Given the description of an element on the screen output the (x, y) to click on. 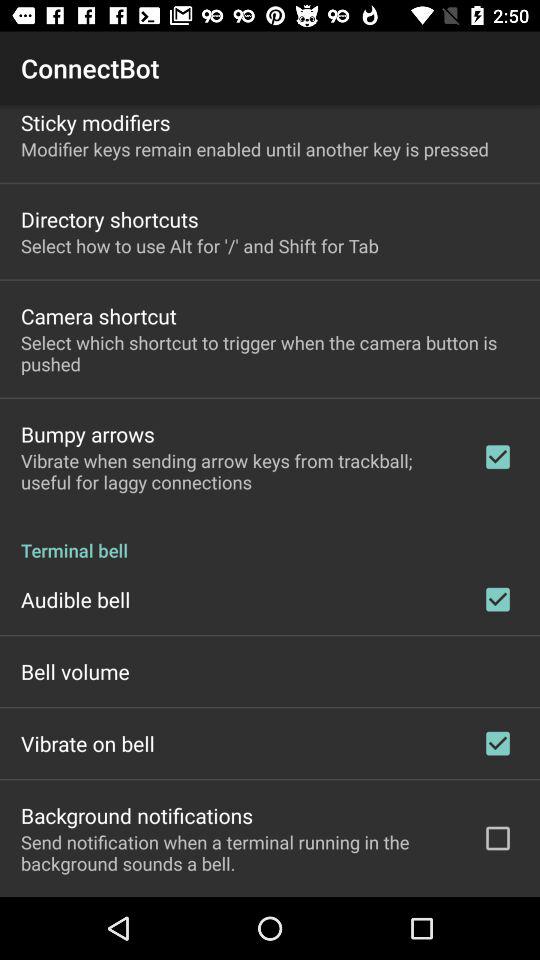
jump to background notifications (137, 815)
